Given the description of an element on the screen output the (x, y) to click on. 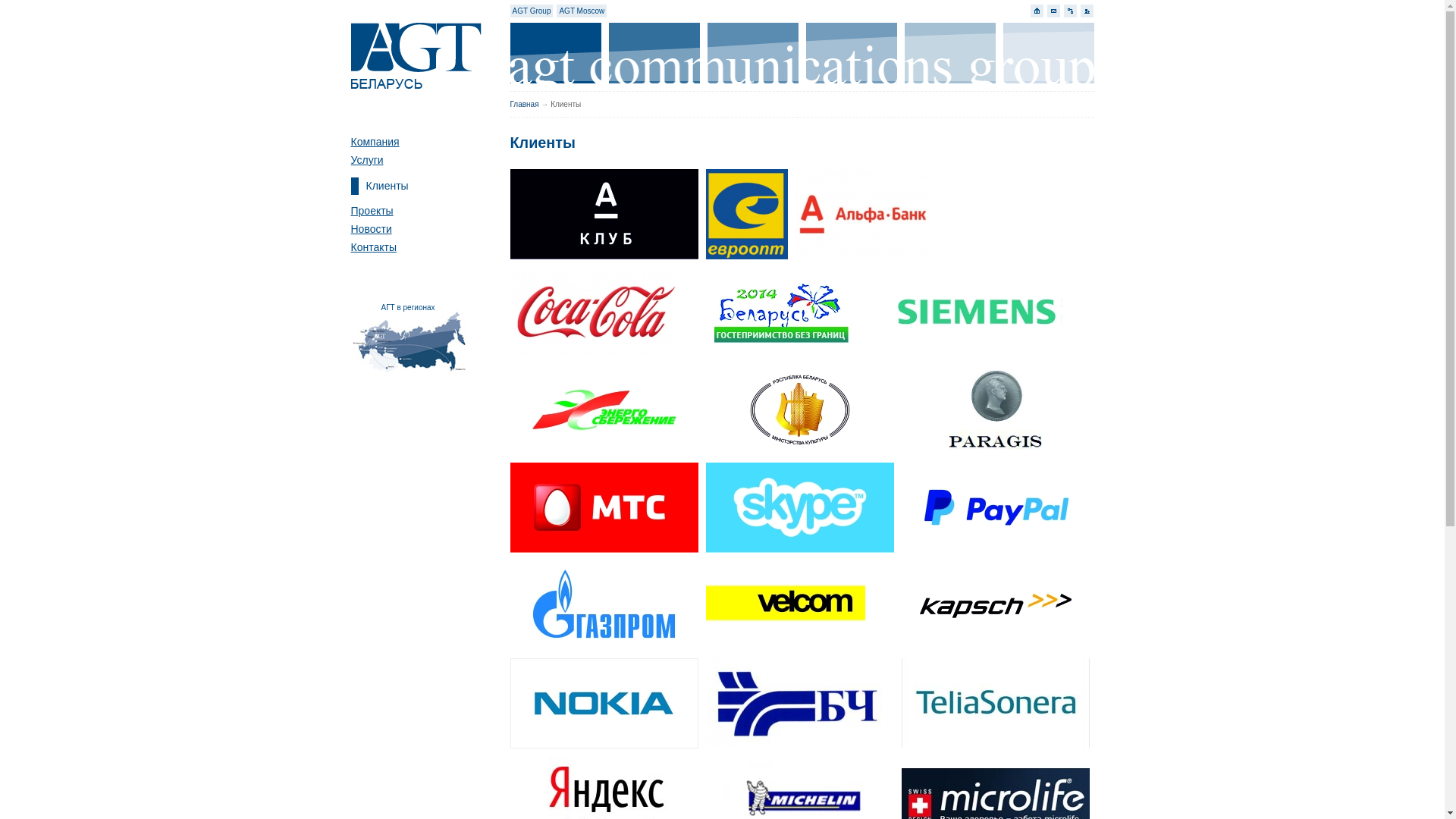
AGT Group Element type: text (531, 10)
Evroopt Element type: hover (746, 214)
AGT Moscow Element type: text (581, 10)
MTS Element type: hover (603, 507)
pr@agt.by Element type: text (1053, 10)
Gazprom Element type: hover (603, 605)
turism Element type: hover (781, 311)
PayPal Element type: hover (994, 507)
Alfa-Bank Element type: hover (861, 214)
Siemens Element type: hover (976, 311)
TeliaSonera Element type: hover (994, 703)
Coca-Cola Element type: hover (593, 311)
velcom Element type: hover (799, 605)
Paragis Element type: hover (994, 409)
Skype Element type: hover (799, 507)
